Given the description of an element on the screen output the (x, y) to click on. 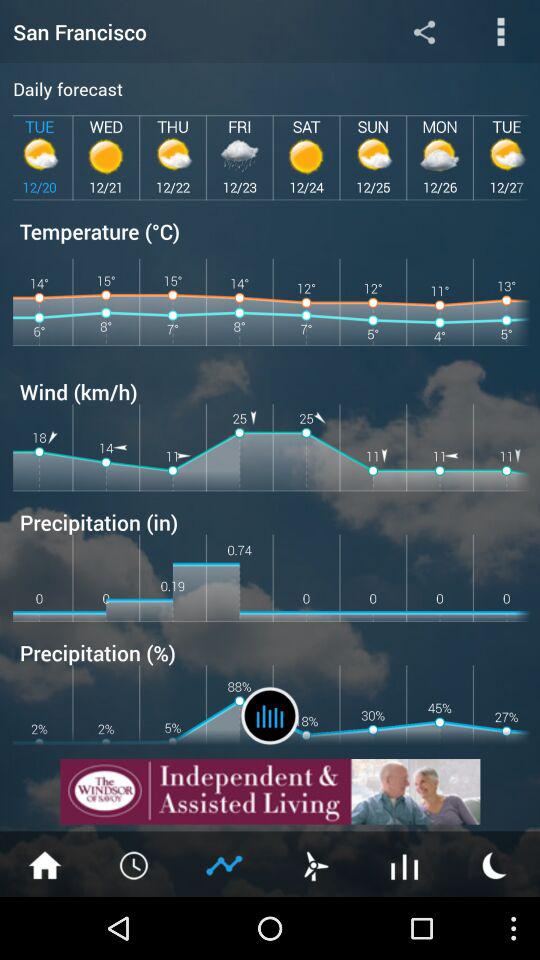
click to wind icon (315, 864)
